Given the description of an element on the screen output the (x, y) to click on. 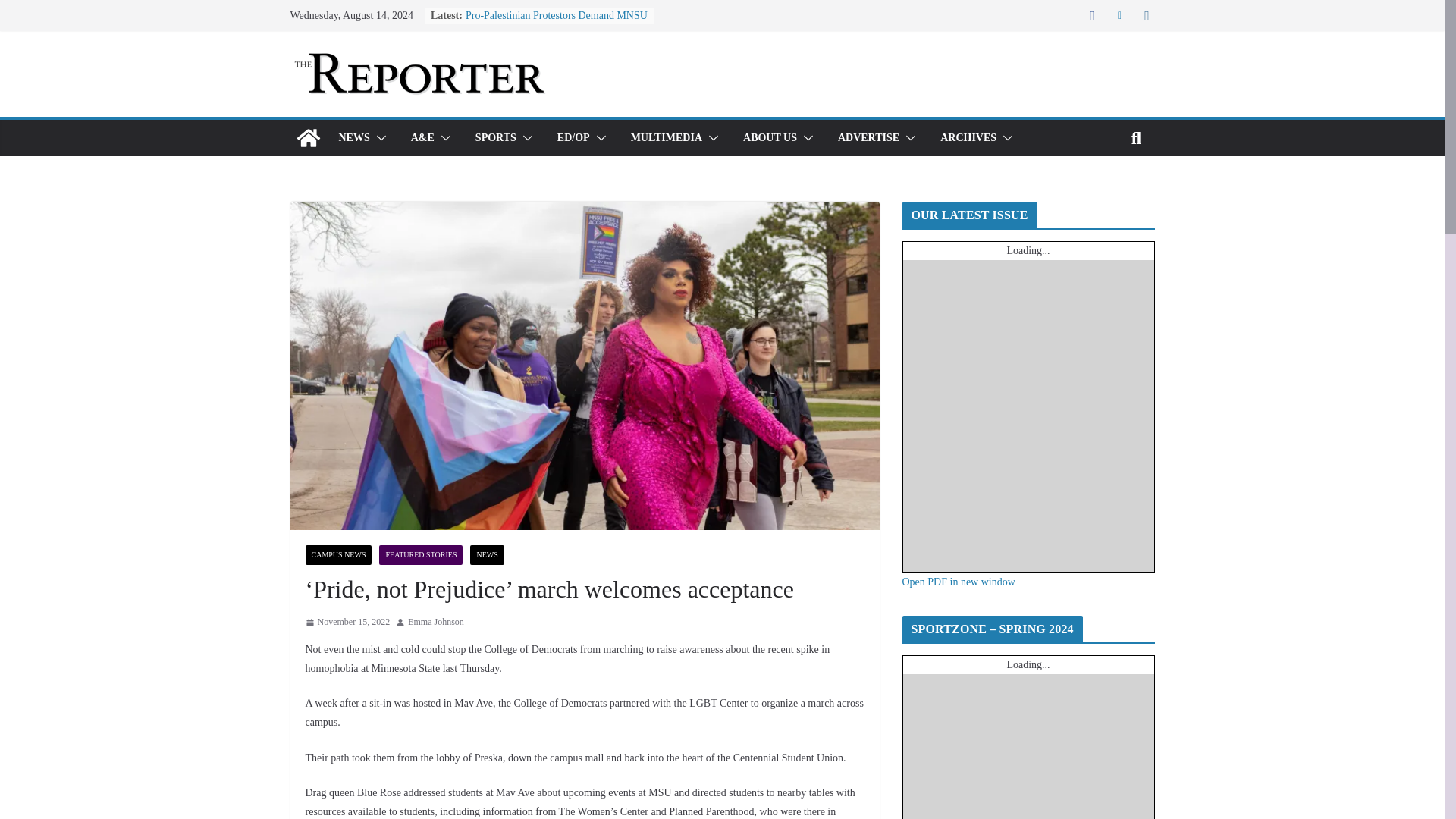
NEWS (353, 137)
MULTIMEDIA (665, 137)
Emma Johnson (435, 622)
8:00 am (347, 622)
SPORTS (496, 137)
